Given the description of an element on the screen output the (x, y) to click on. 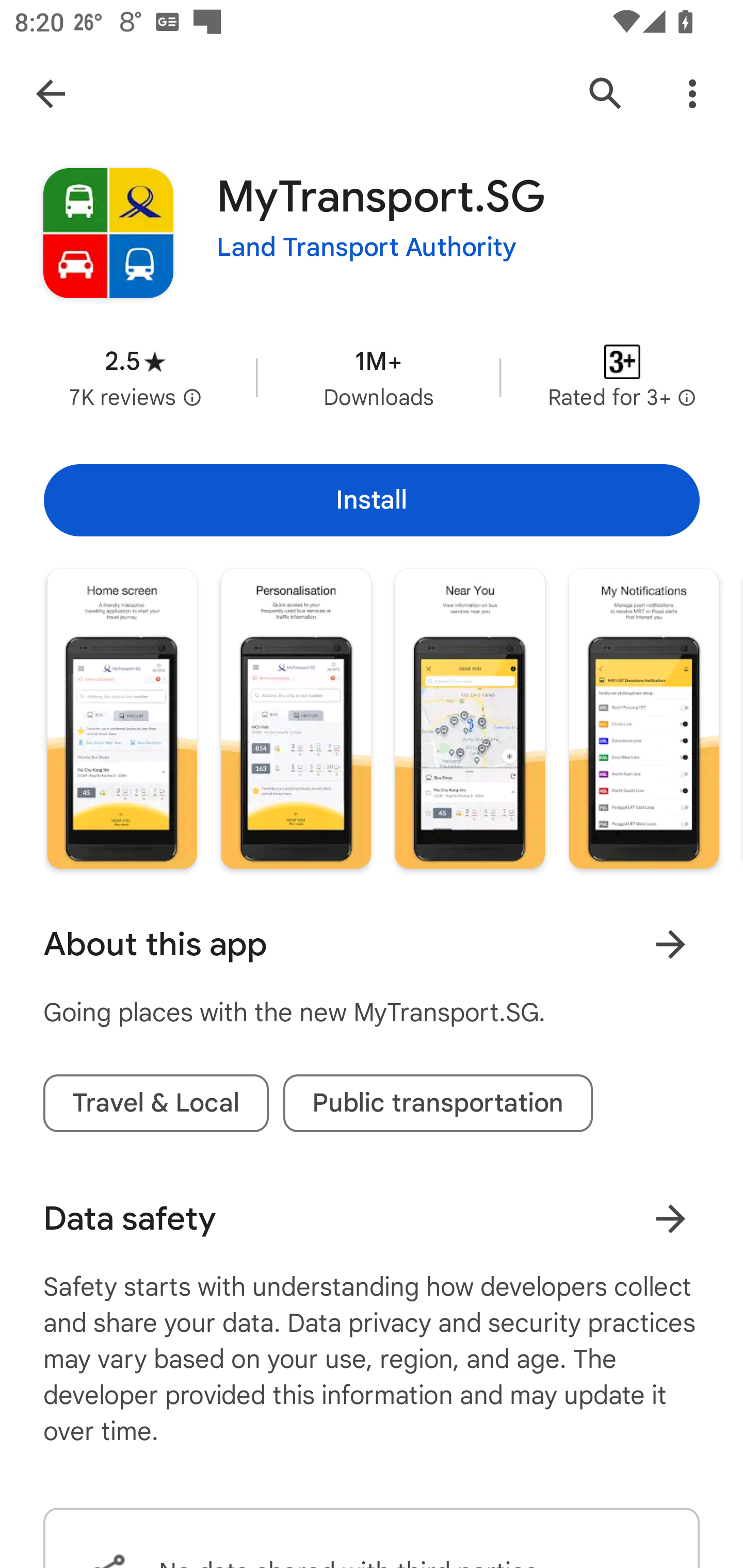
Navigate up (50, 93)
Search Google Play (605, 93)
More Options (692, 93)
Land Transport Authority (366, 247)
Average rating 2.5 stars in 7 thousand reviews (135, 377)
Content rating Rated for 3+ (622, 377)
Install (371, 500)
Screenshot "1" of "8" (121, 718)
Screenshot "2" of "8" (295, 718)
Screenshot "3" of "8" (469, 718)
Screenshot "4" of "8" (643, 718)
About this app Learn more About this app (371, 944)
Learn more About this app (670, 944)
Travel & Local tag (155, 1102)
Public transportation tag (437, 1102)
Data safety Learn more about data safety (371, 1219)
Learn more about data safety (670, 1219)
